Given the description of an element on the screen output the (x, y) to click on. 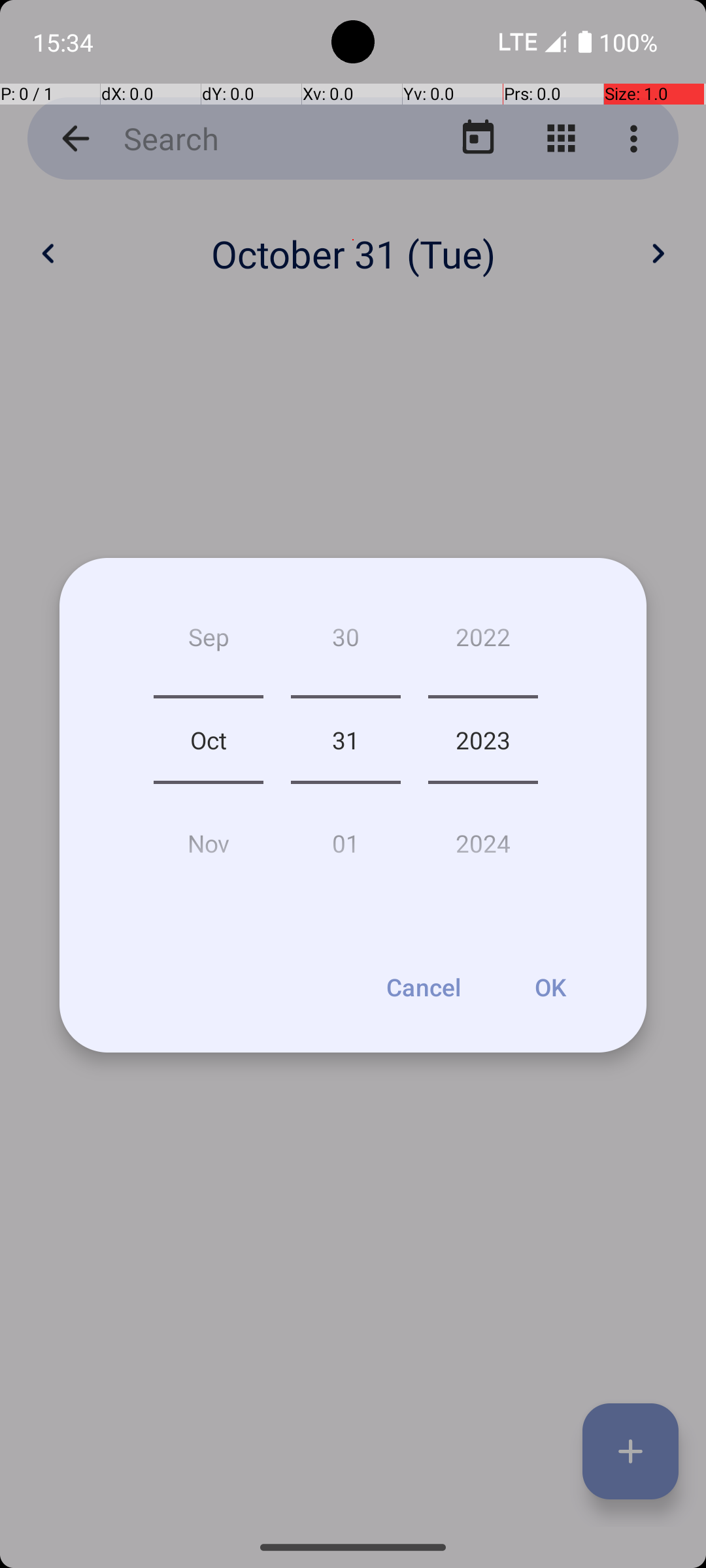
01 Element type: android.widget.Button (345, 837)
